Given the description of an element on the screen output the (x, y) to click on. 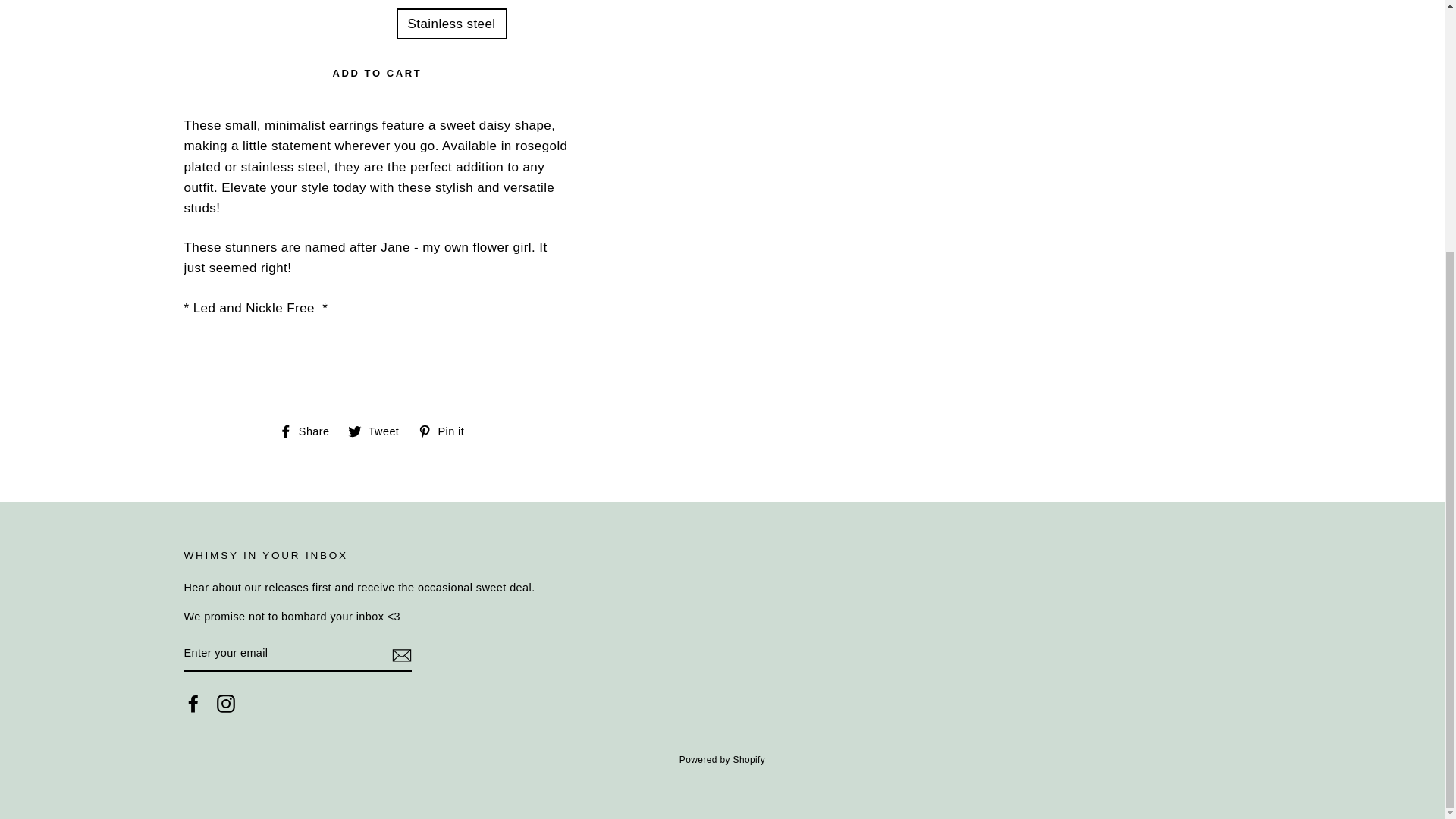
ADD TO CART (376, 73)
Tweet on Twitter (378, 430)
Share on Facebook (378, 430)
Whimsy's Jewels on Facebook (309, 430)
Whimsy's Jewels on Instagram (192, 703)
Pin on Pinterest (225, 703)
